Given the description of an element on the screen output the (x, y) to click on. 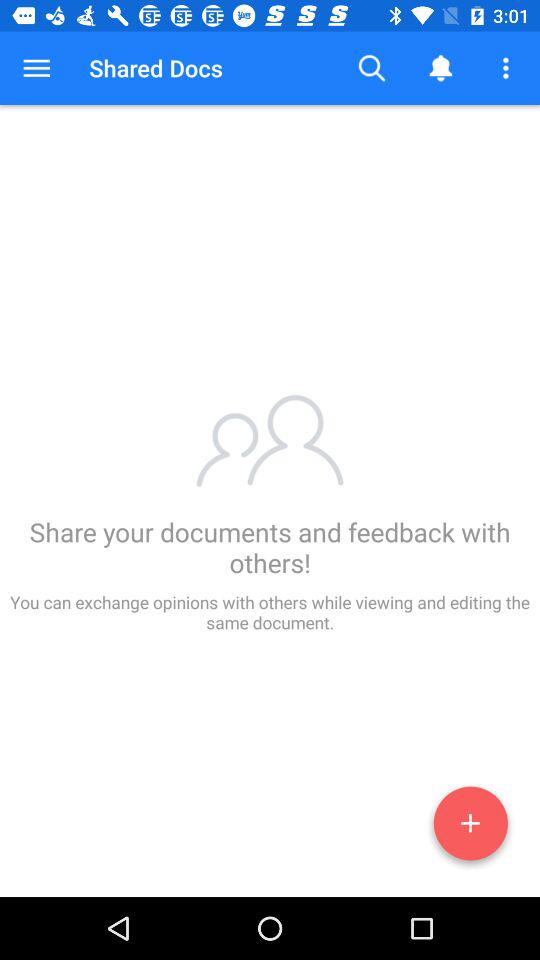
flip until the shared docs item (155, 68)
